Given the description of an element on the screen output the (x, y) to click on. 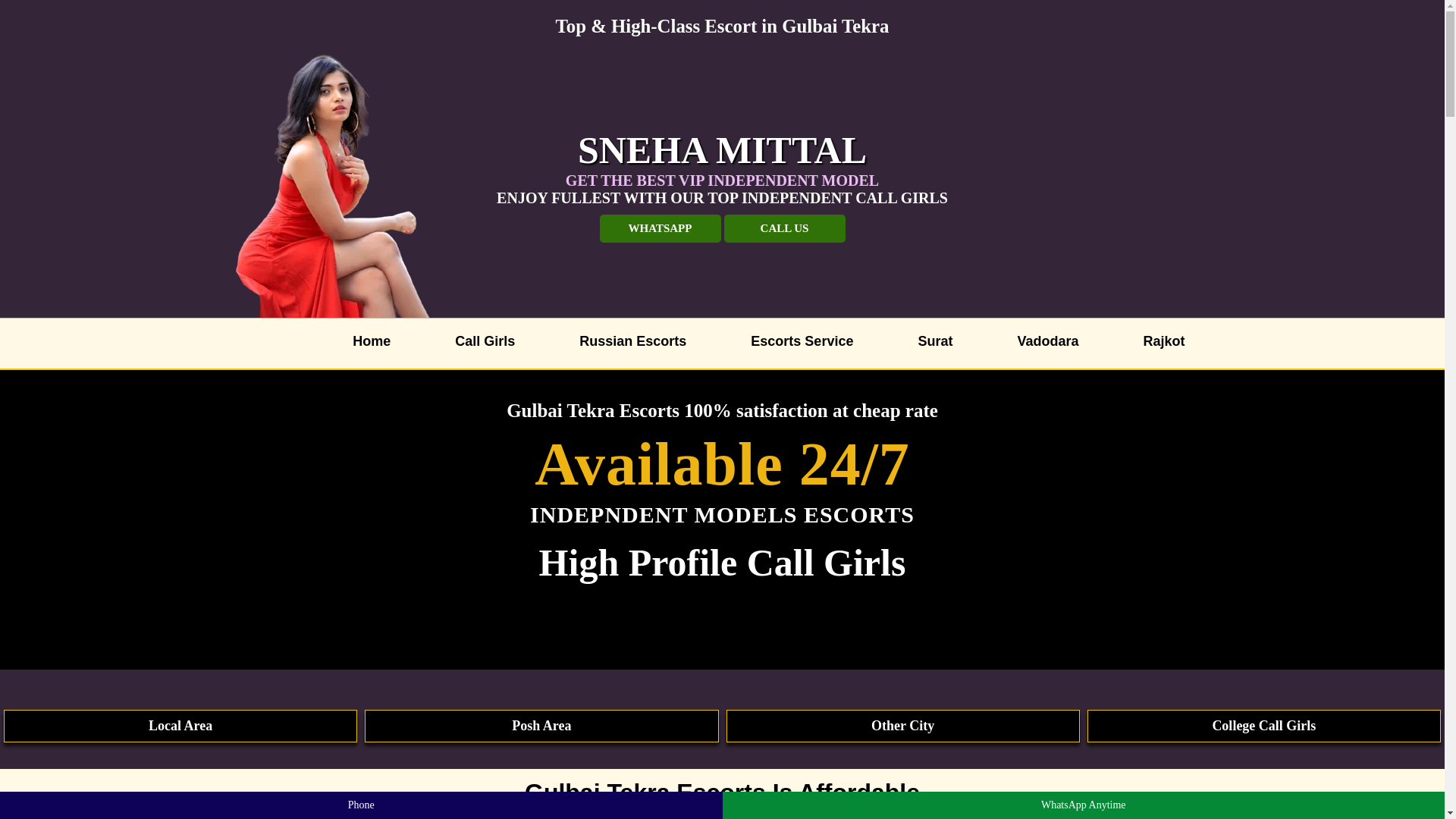
Russian Escorts (624, 338)
CALL US (783, 228)
Vadodara (1040, 338)
WHATSAPP (659, 228)
Rajkot (1155, 338)
Home (363, 338)
Surat (927, 338)
Call Girls (477, 338)
Escorts Service (793, 338)
